Given the description of an element on the screen output the (x, y) to click on. 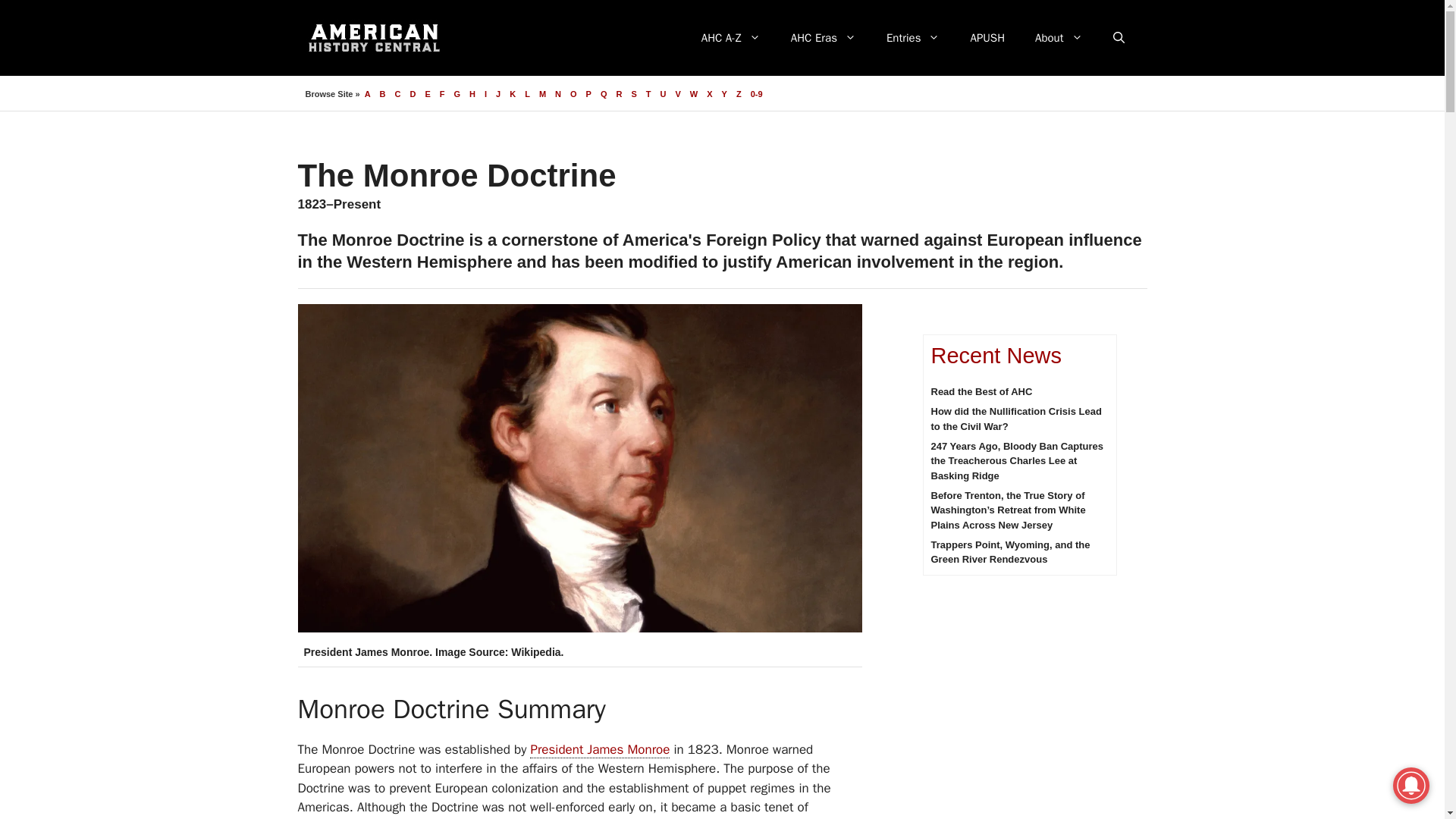
AHC Eras (823, 37)
AHC A-Z (730, 37)
